Given the description of an element on the screen output the (x, y) to click on. 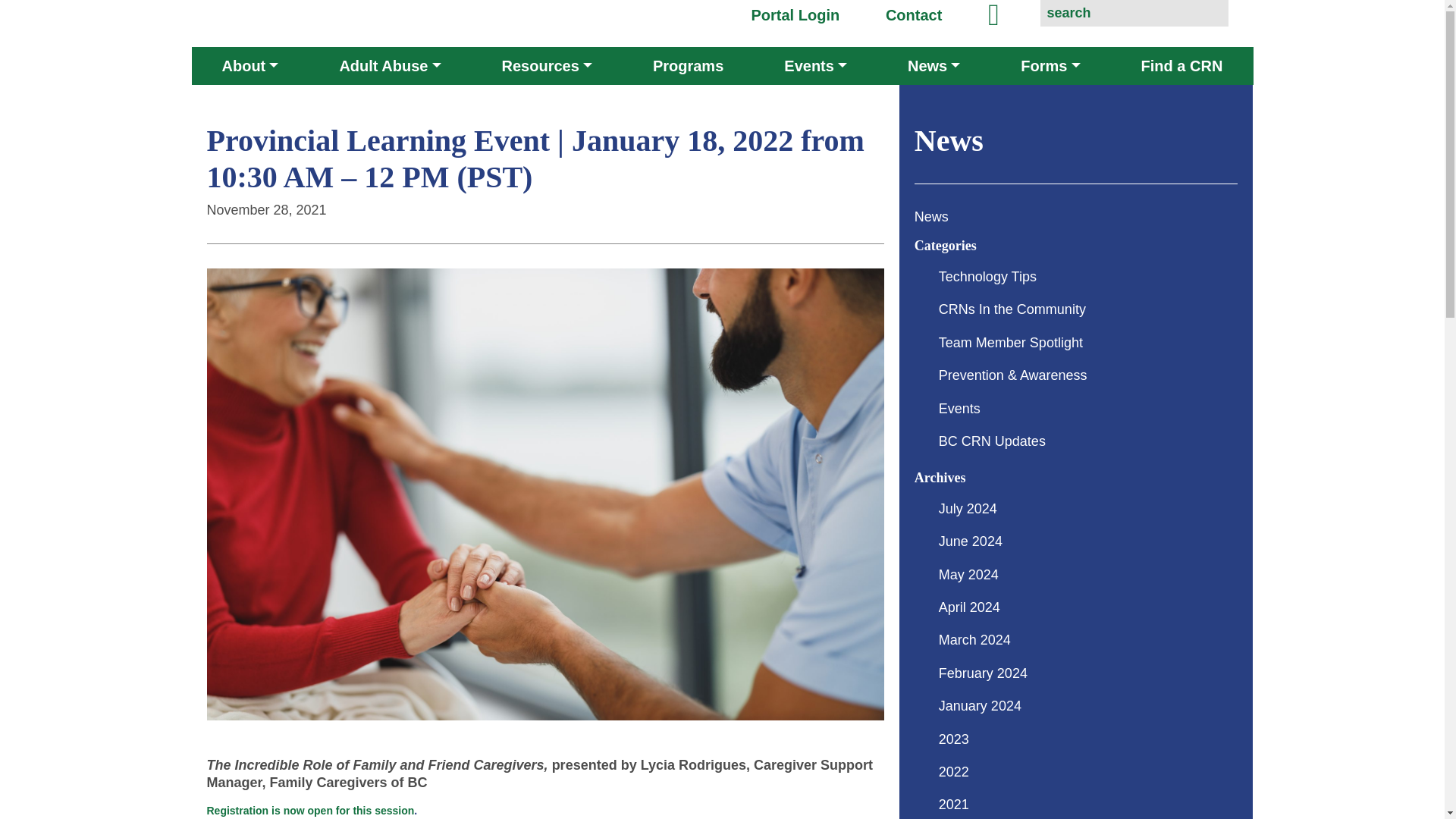
Programs (687, 65)
Resources (546, 65)
Adult Abuse (389, 65)
Events (814, 65)
Portal Login (795, 14)
Contact (913, 14)
About (250, 65)
Adult Abuse (389, 65)
About (250, 65)
